Given the description of an element on the screen output the (x, y) to click on. 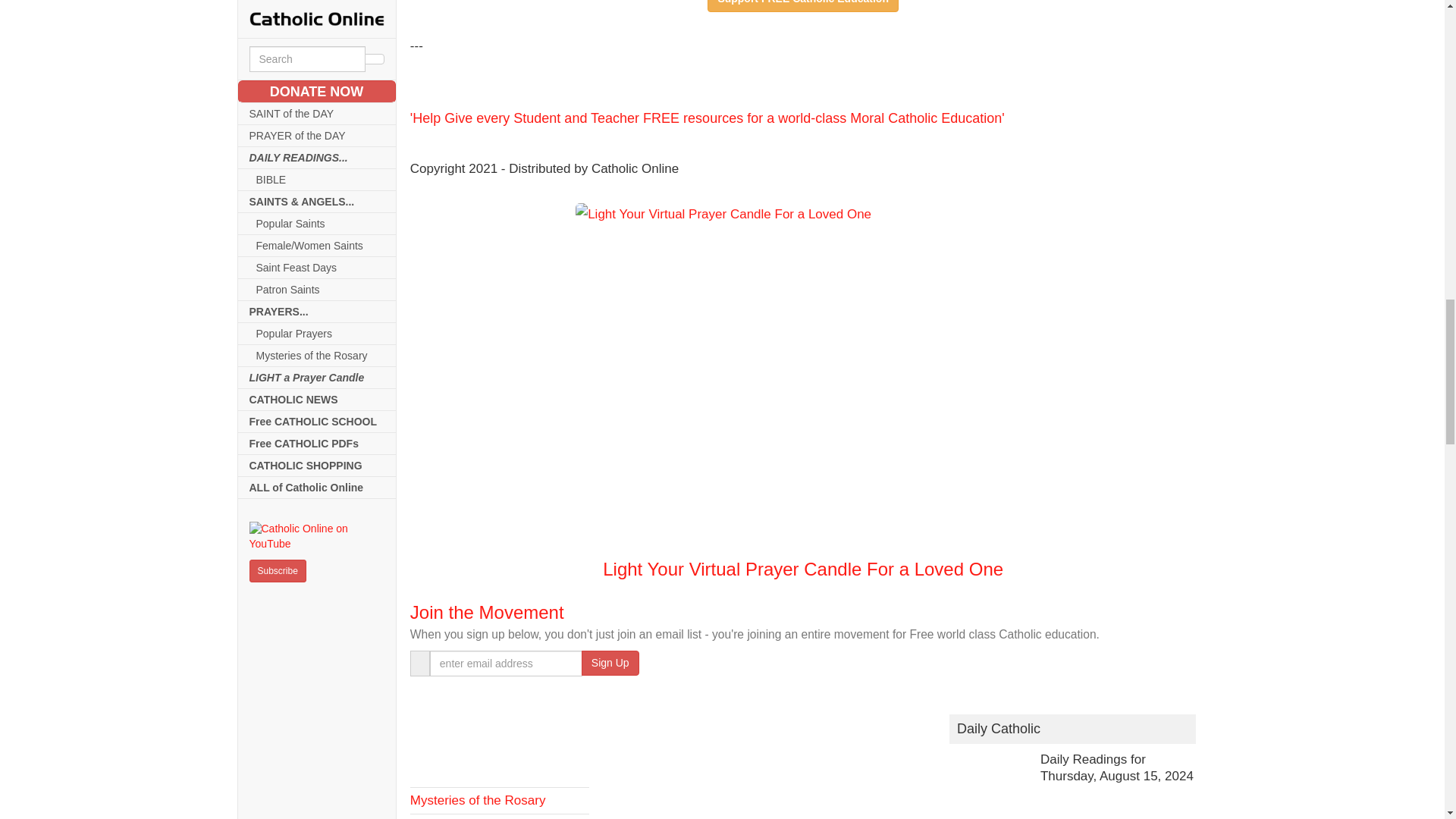
Sign Up (609, 663)
Daily Reading (499, 744)
